Given the description of an element on the screen output the (x, y) to click on. 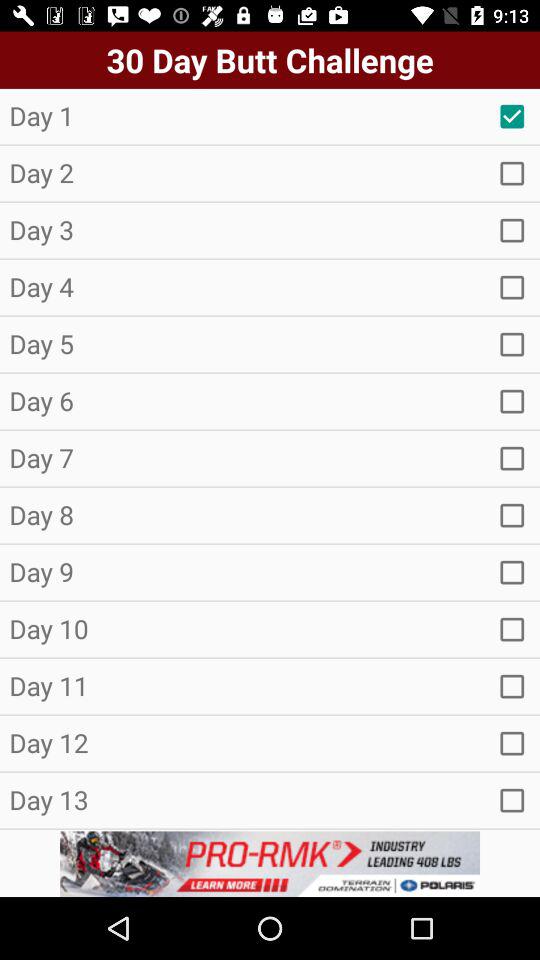
day 10 check box (512, 629)
